Given the description of an element on the screen output the (x, y) to click on. 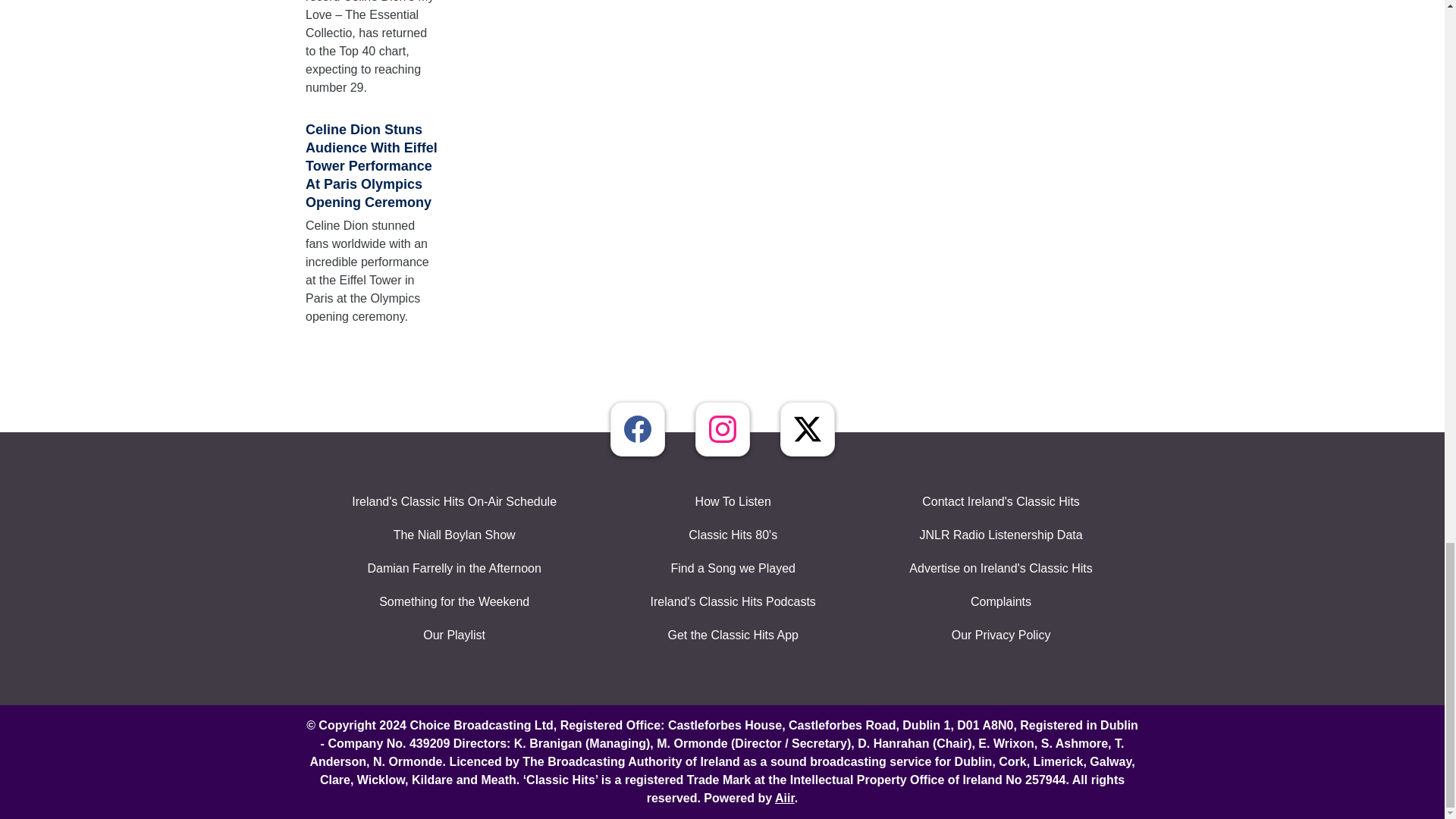
Aiir radio website CMS (784, 797)
